Given the description of an element on the screen output the (x, y) to click on. 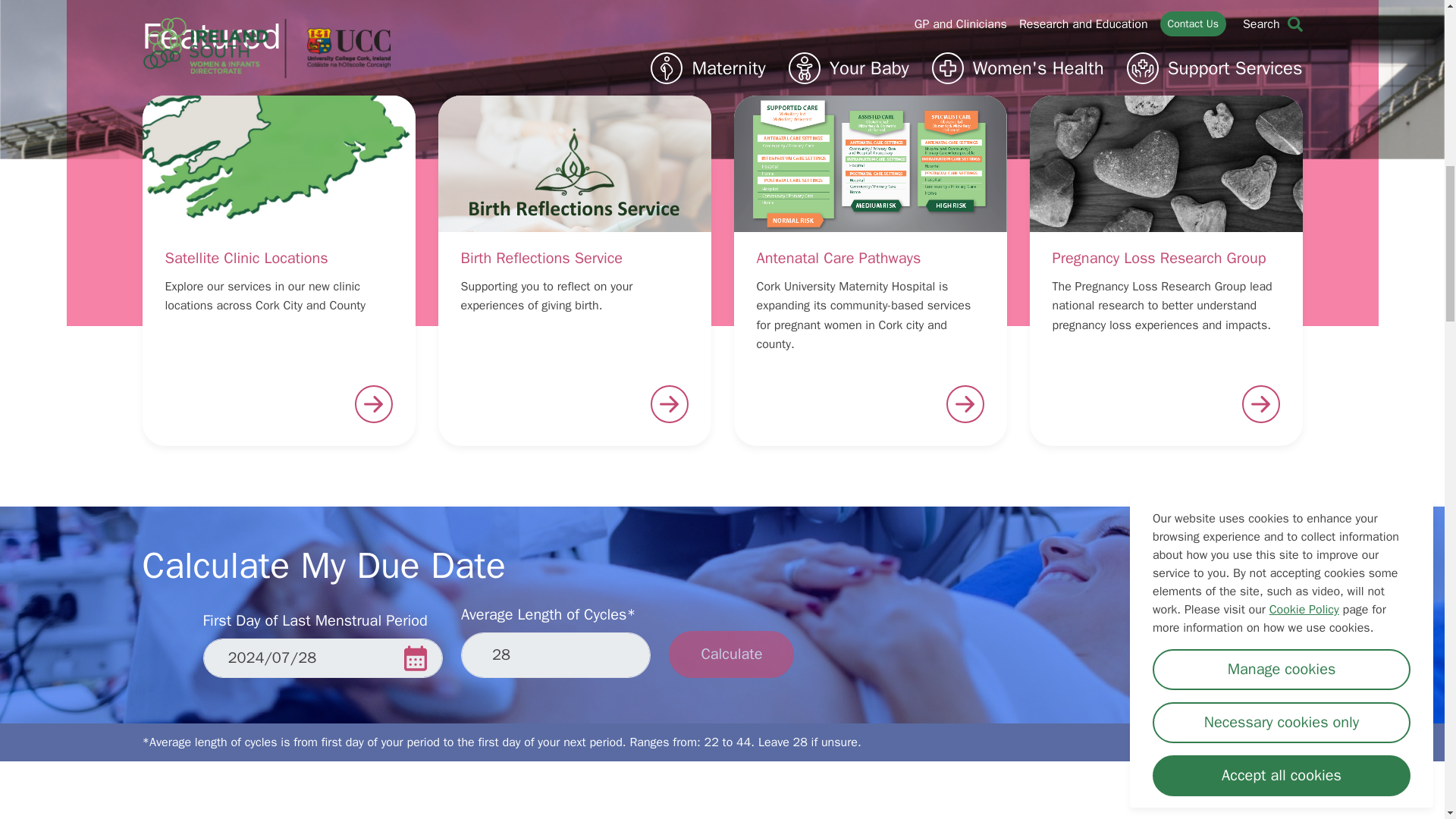
28 (555, 655)
2024-07-28 (322, 658)
